Given the description of an element on the screen output the (x, y) to click on. 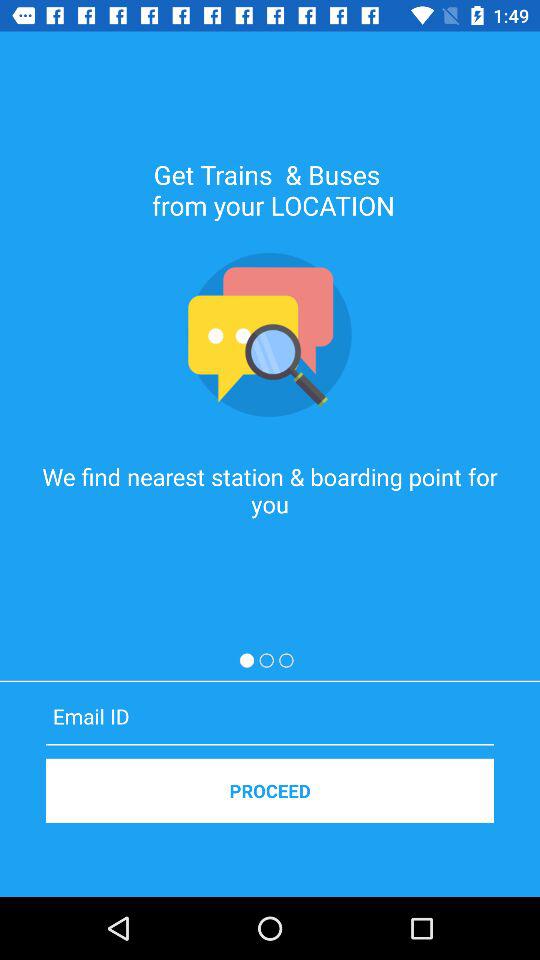
turn off the proceed icon (269, 790)
